Given the description of an element on the screen output the (x, y) to click on. 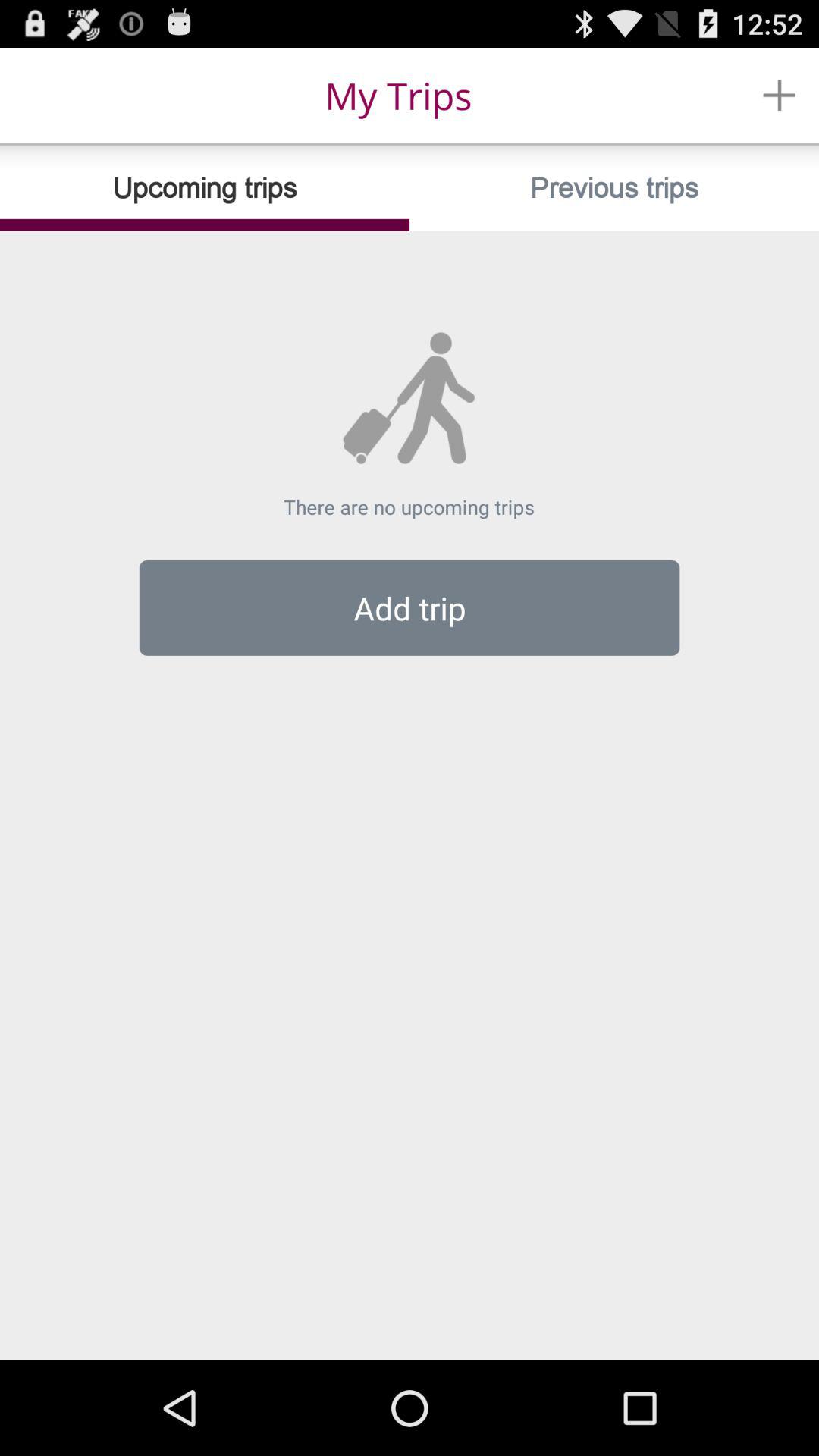
turn off the item to the right of the my trips (779, 95)
